Given the description of an element on the screen output the (x, y) to click on. 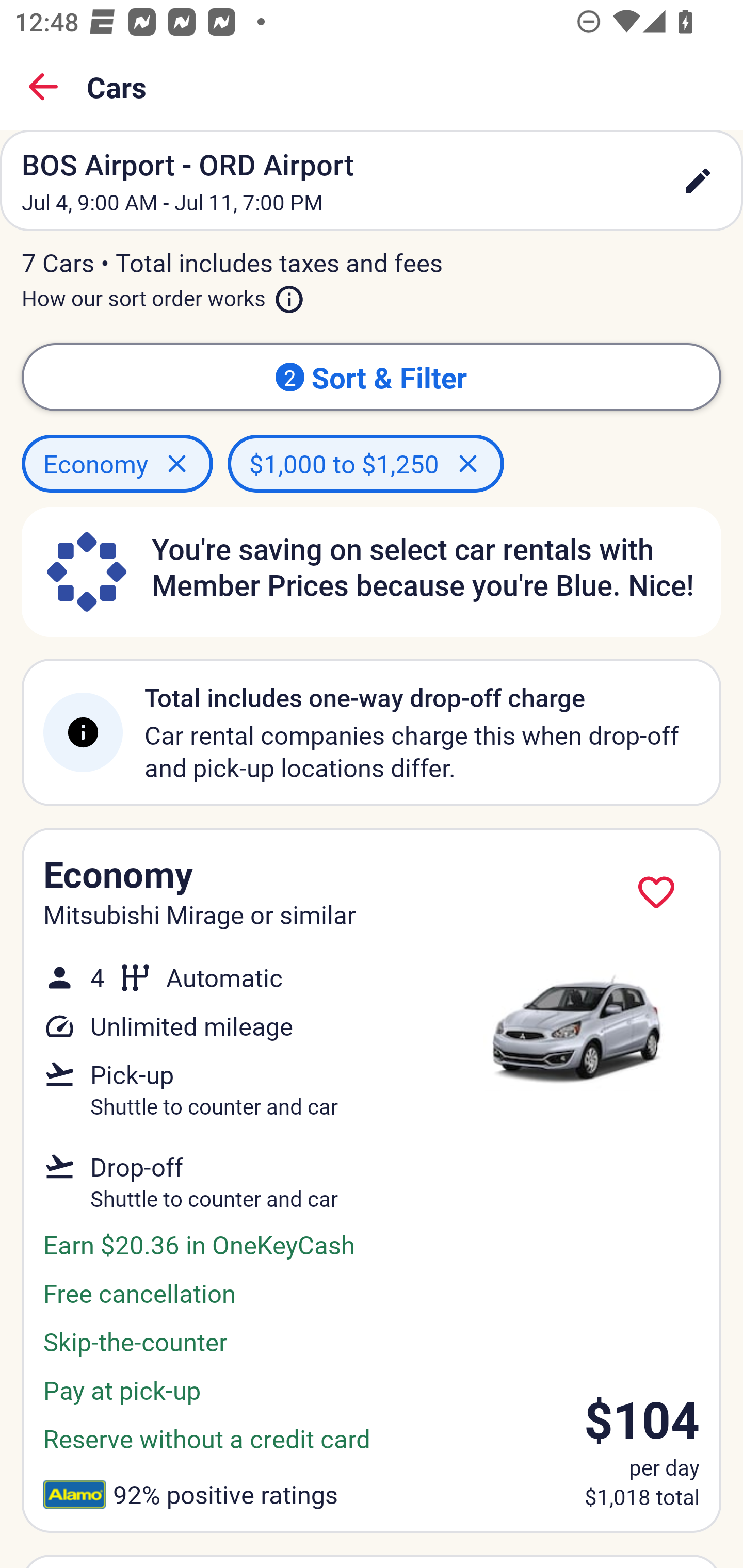
Back (43, 86)
edit (697, 180)
How our sort order works (163, 294)
2 Sort & Filter (371, 376)
